Given the description of an element on the screen output the (x, y) to click on. 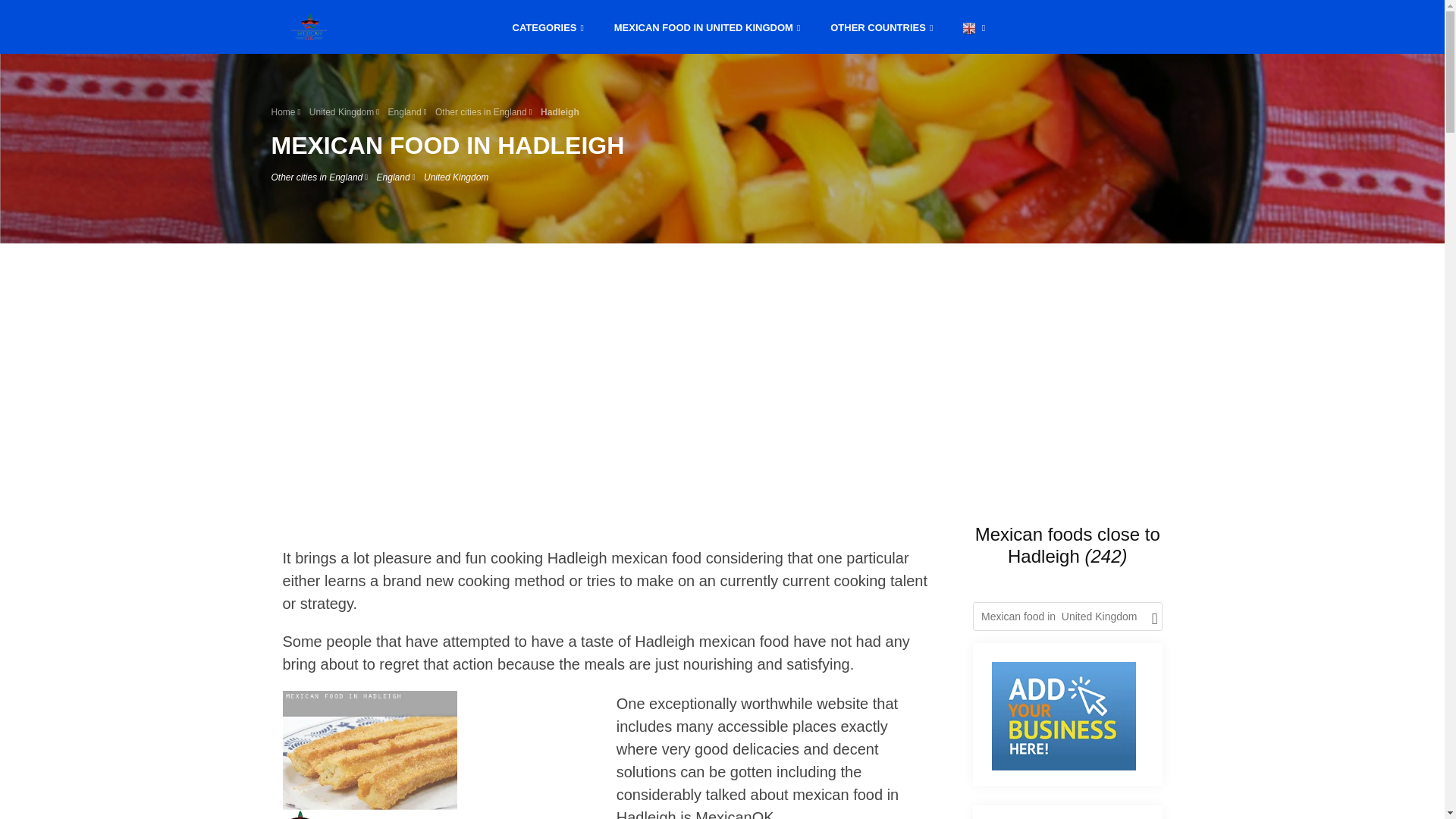
MEXICAN FOOD IN UNITED KINGDOM (706, 25)
CATEGORIES (547, 25)
OTHER COUNTRIES (881, 25)
